Given the description of an element on the screen output the (x, y) to click on. 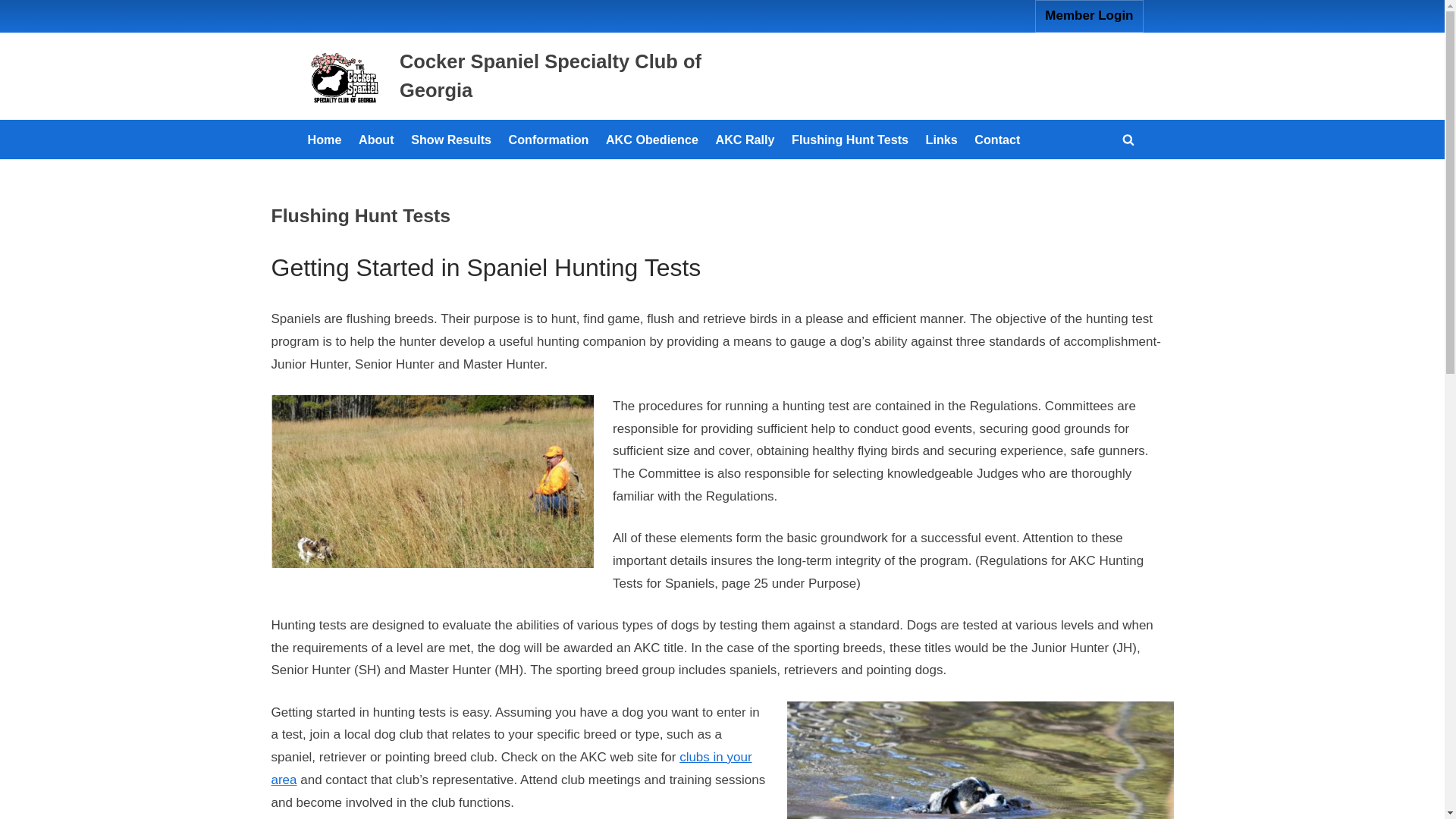
AKC Obedience (651, 139)
Show Results (450, 139)
About (376, 139)
clubs in your area (511, 768)
Contact (997, 139)
Conformation (548, 139)
Home (324, 139)
Cocker Spaniel Specialty Club of Georgia (549, 75)
AKC Rally (744, 139)
Member Login (1088, 16)
